Given the description of an element on the screen output the (x, y) to click on. 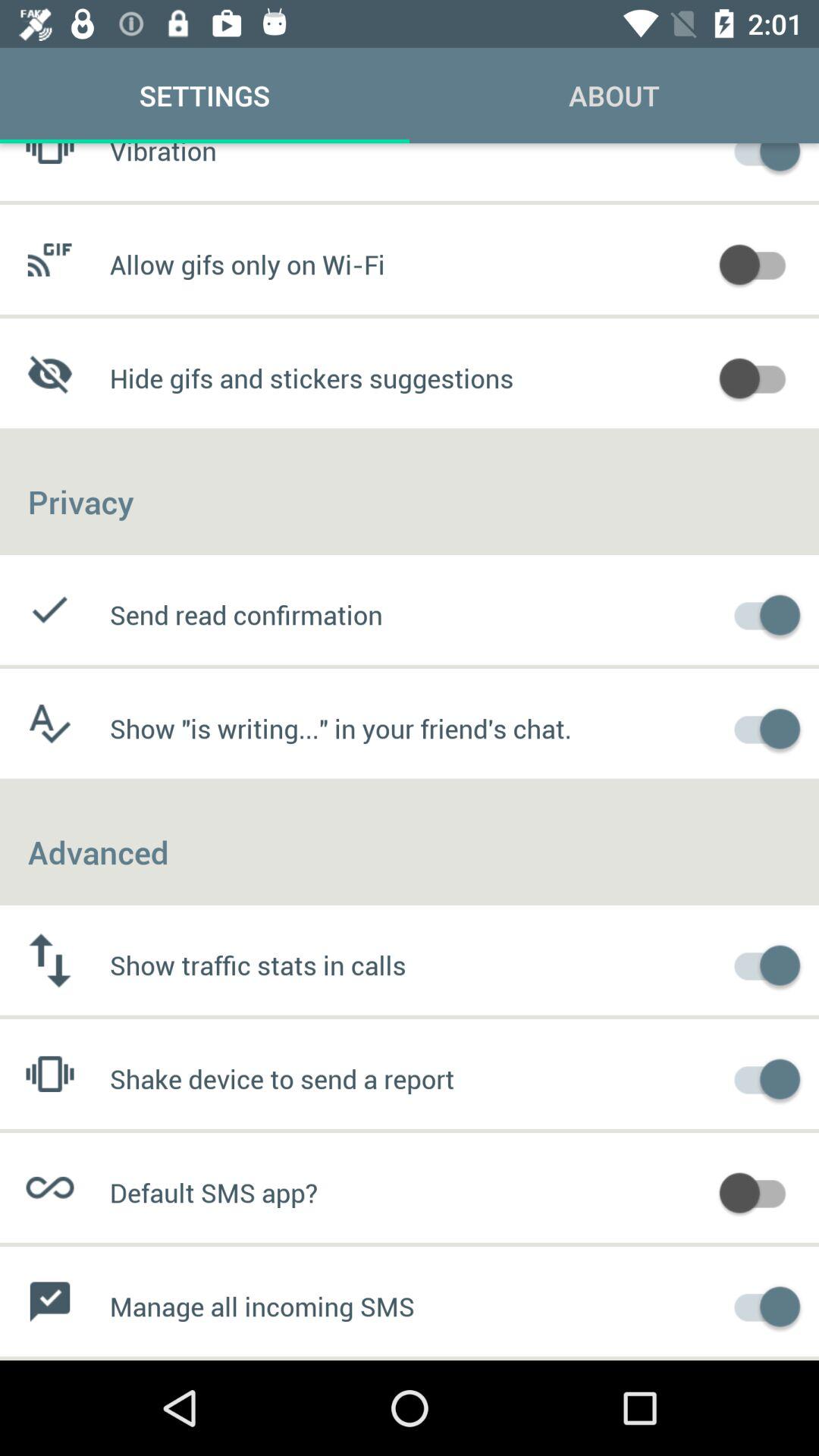
toggle for sms management (759, 1304)
